Given the description of an element on the screen output the (x, y) to click on. 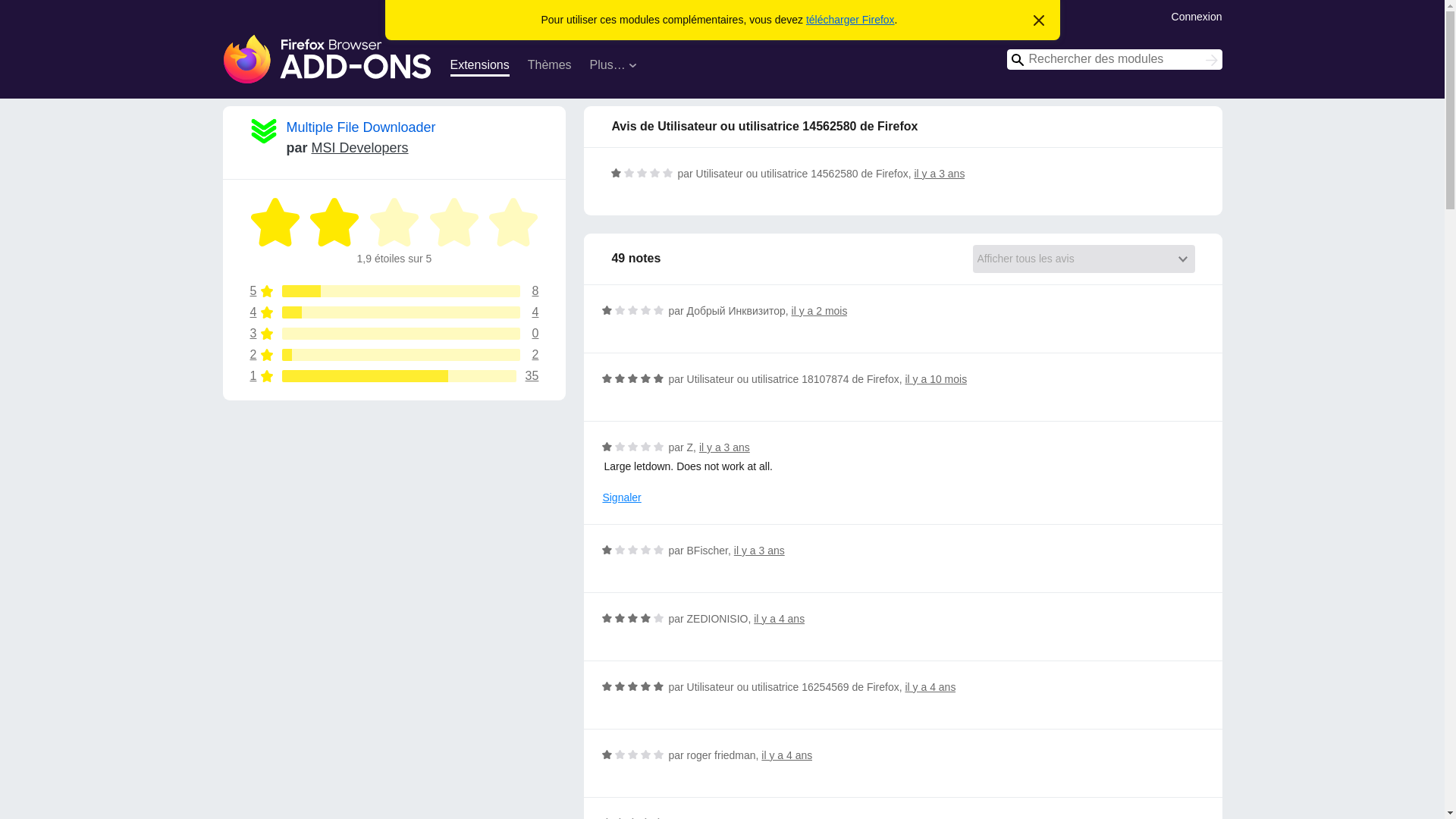
il y a 3 ans (938, 173)
Connexion (1197, 14)
MSI Developers (360, 147)
Rechercher (1212, 61)
il y a 4 ans (761, 818)
il y a 4 ans (786, 755)
il y a 3 ans (394, 376)
il y a 3 ans (723, 447)
